Given the description of an element on the screen output the (x, y) to click on. 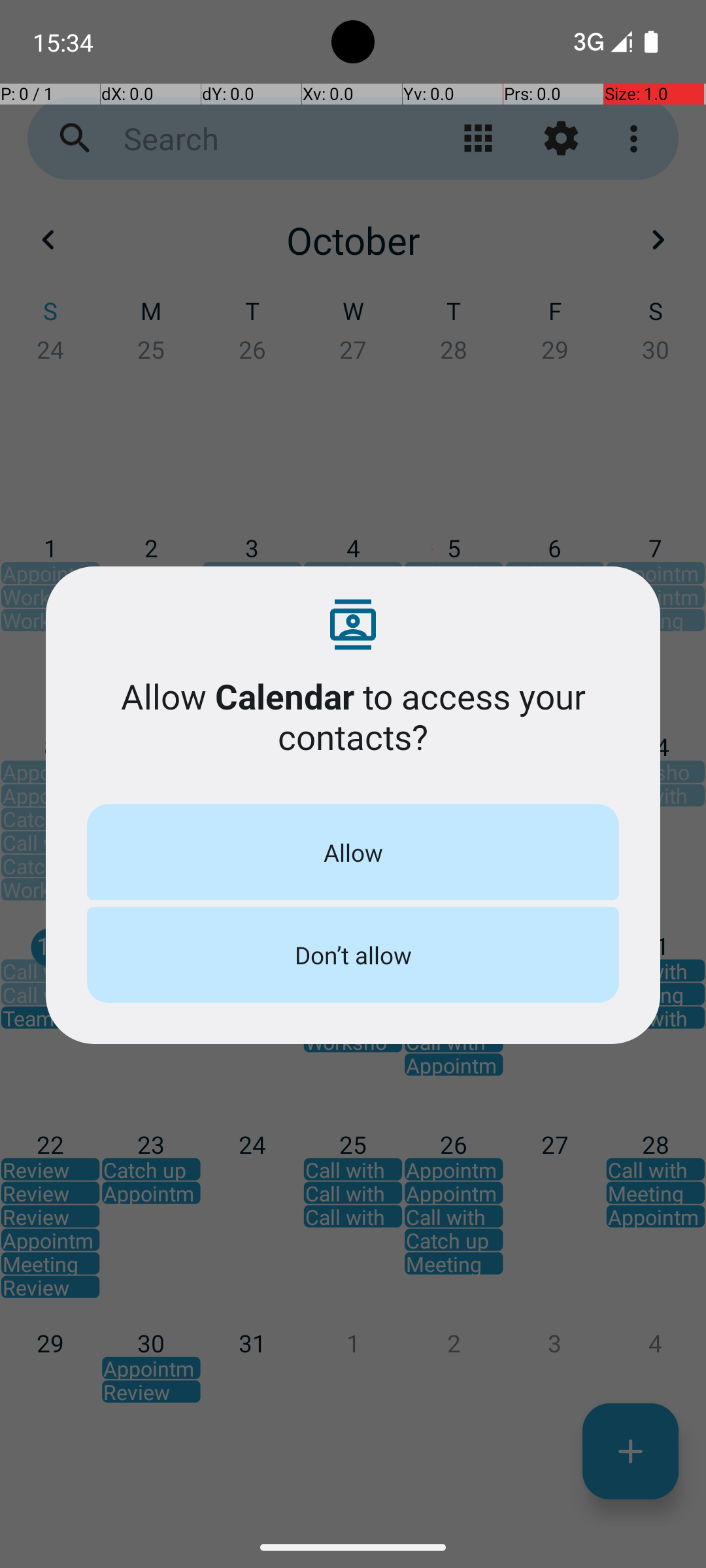
Allow Calendar to access your contacts? Element type: android.widget.TextView (352, 715)
